Given the description of an element on the screen output the (x, y) to click on. 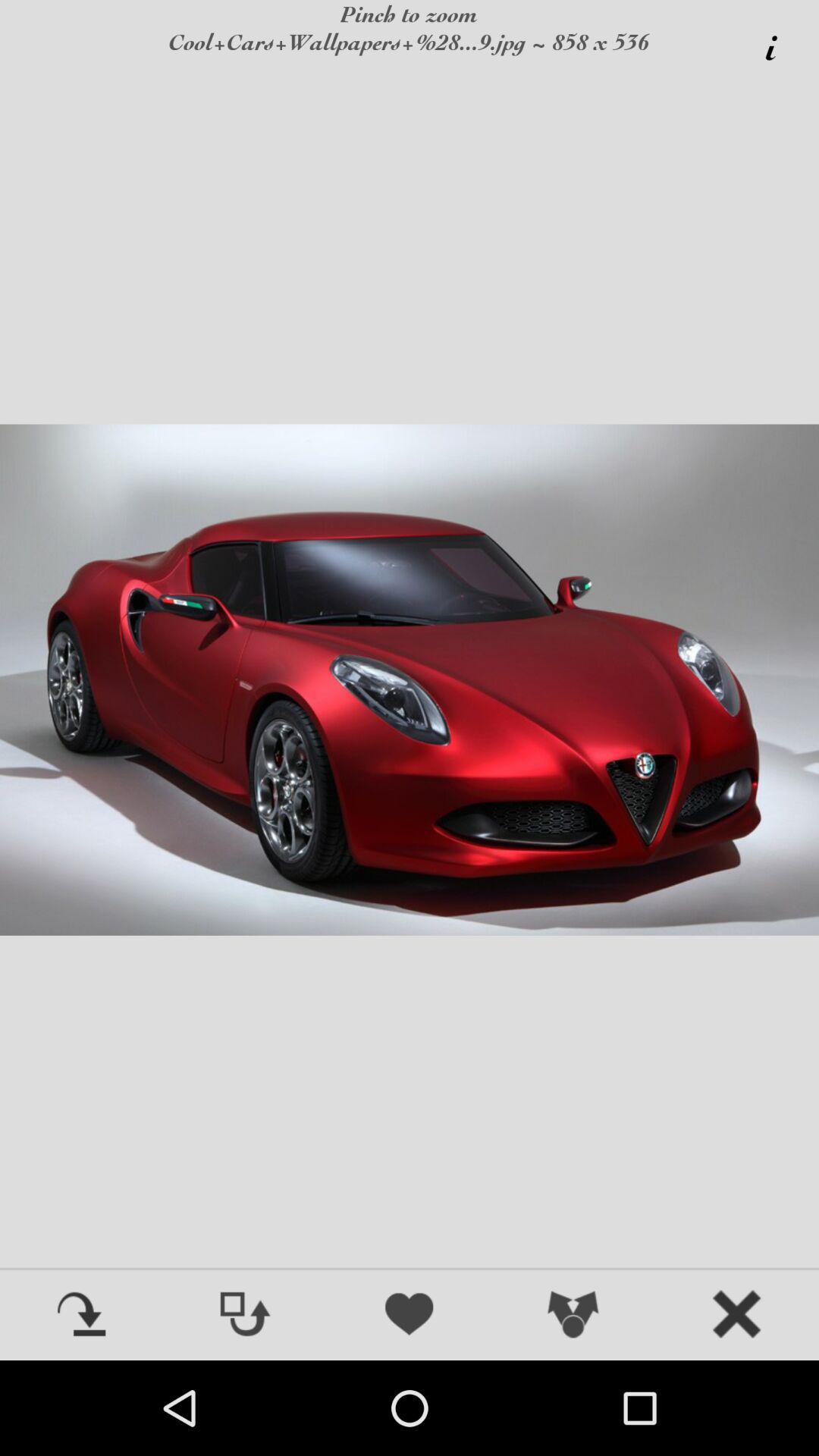
share (573, 1315)
